Given the description of an element on the screen output the (x, y) to click on. 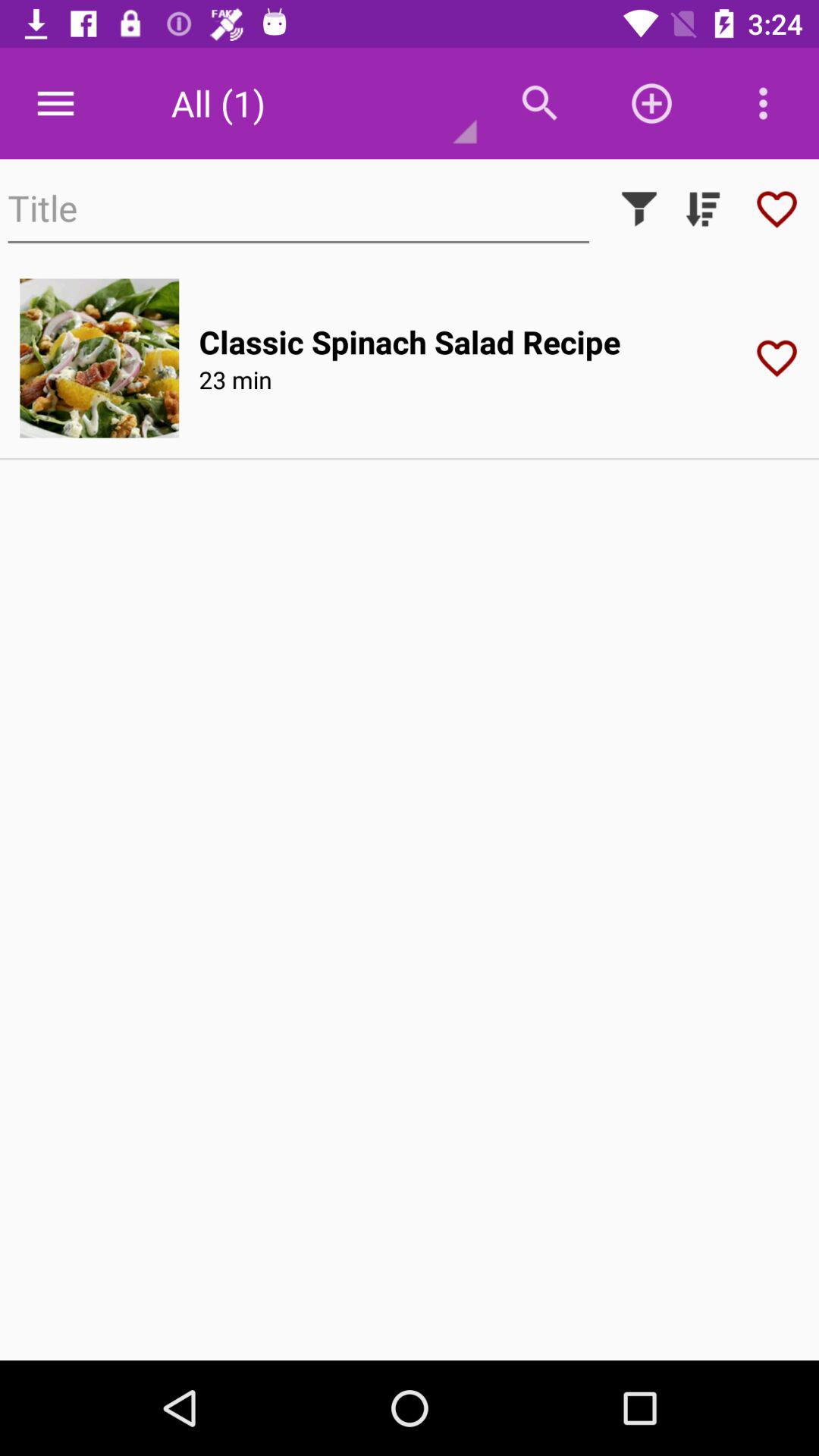
favorite recipe (776, 208)
